Given the description of an element on the screen output the (x, y) to click on. 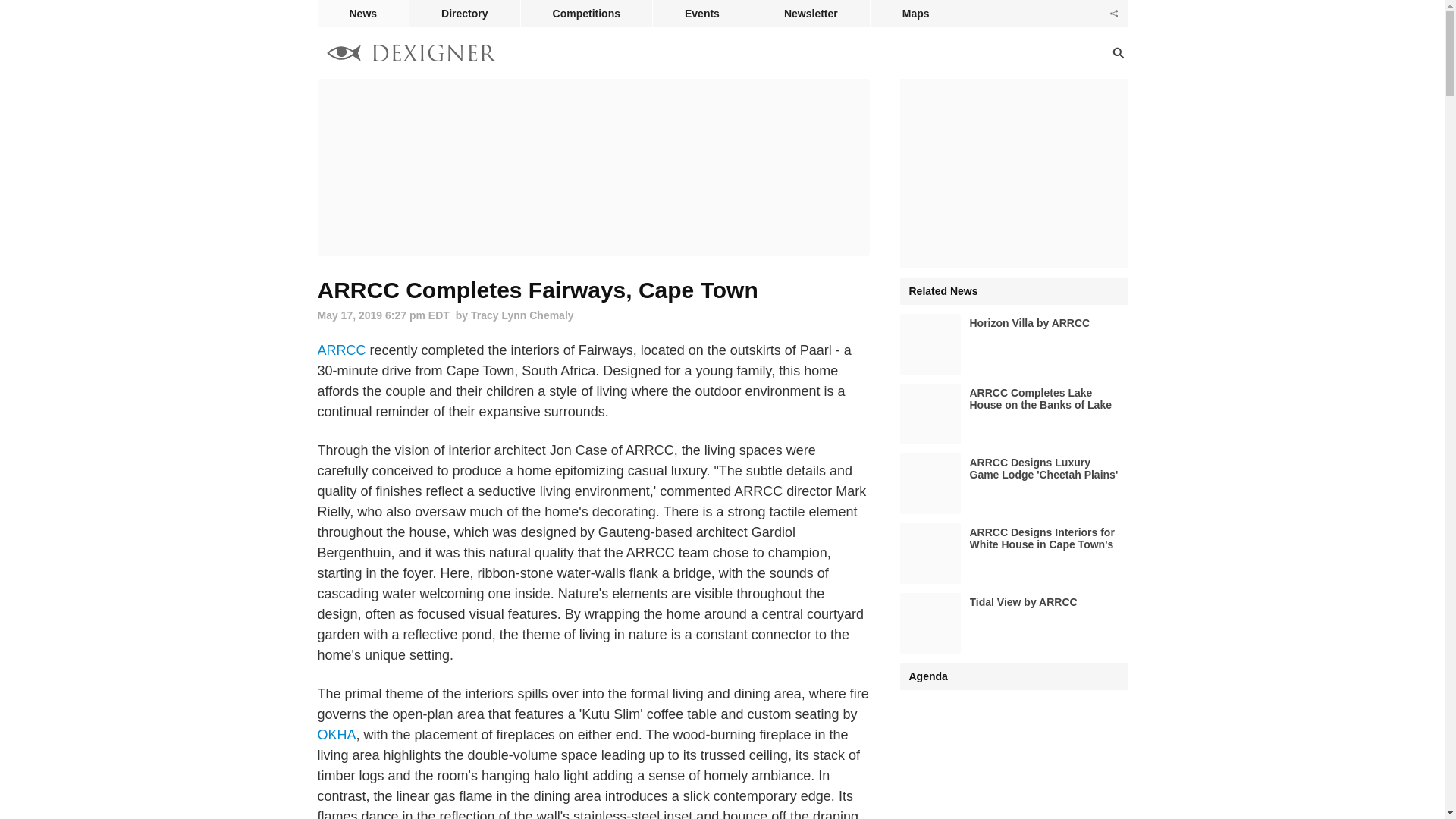
Maps (915, 13)
Events (701, 13)
Dexigner (411, 54)
ARRCC Designs Luxury Game Lodge 'Cheetah Plains' (1012, 483)
Competitions (586, 13)
OKHA (336, 734)
News (363, 13)
follow dexigner (1112, 13)
Horizon Villa by ARRCC (1012, 343)
Directory (464, 13)
